Given the description of an element on the screen output the (x, y) to click on. 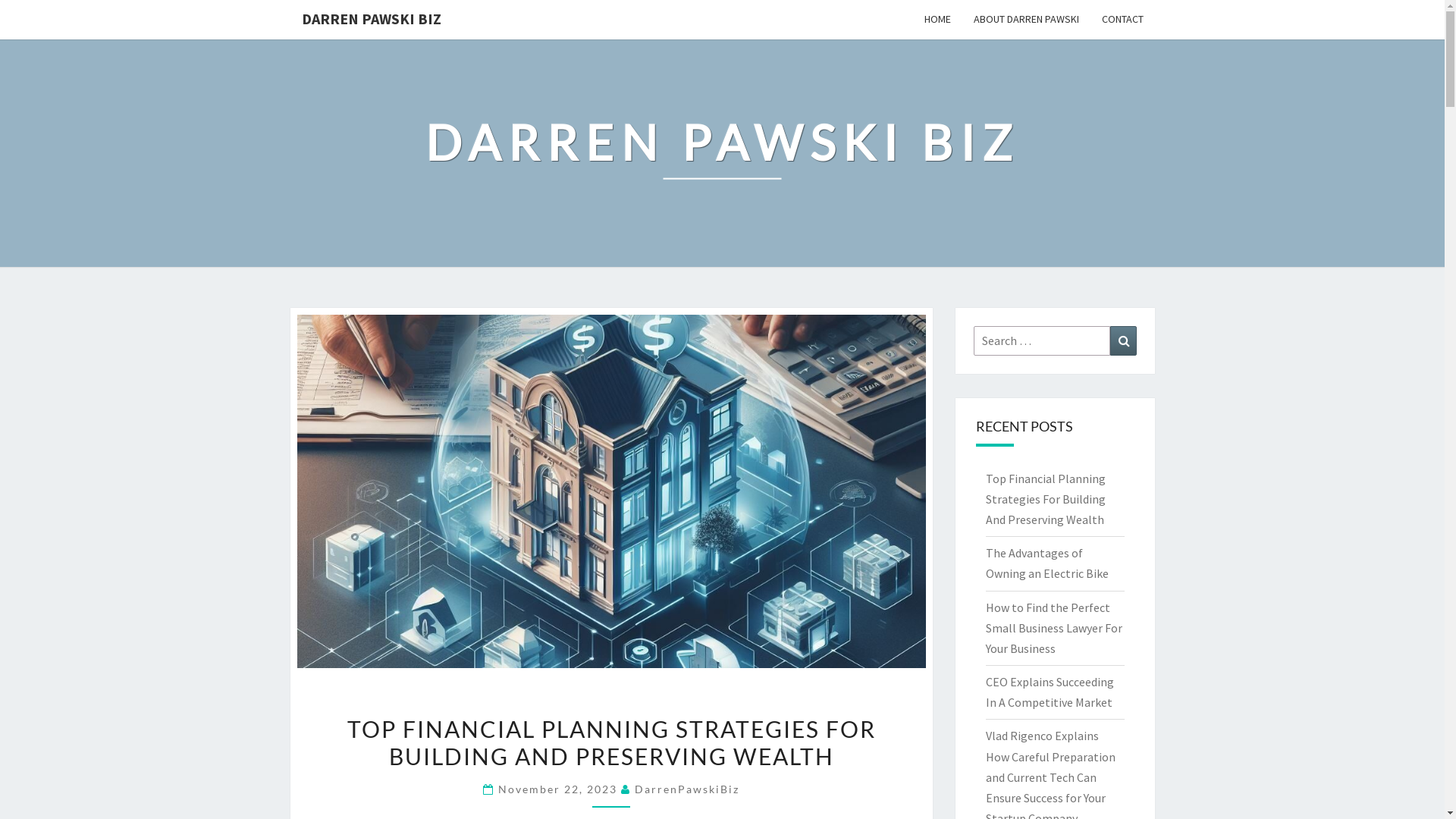
ABOUT DARREN PAWSKI Element type: text (1025, 19)
CONTACT Element type: text (1122, 19)
November 22, 2023 Element type: text (559, 788)
The Advantages of Owning an Electric Bike Element type: text (1046, 562)
DARREN PAWSKI BIZ Element type: text (722, 152)
HOME Element type: text (937, 19)
DarrenPawskiBiz Element type: text (686, 788)
CEO Explains Succeeding In A Competitive Market Element type: text (1049, 691)
Search Element type: text (1123, 340)
Search for: Element type: hover (1041, 340)
DARREN PAWSKI BIZ Element type: text (370, 18)
